Given the description of an element on the screen output the (x, y) to click on. 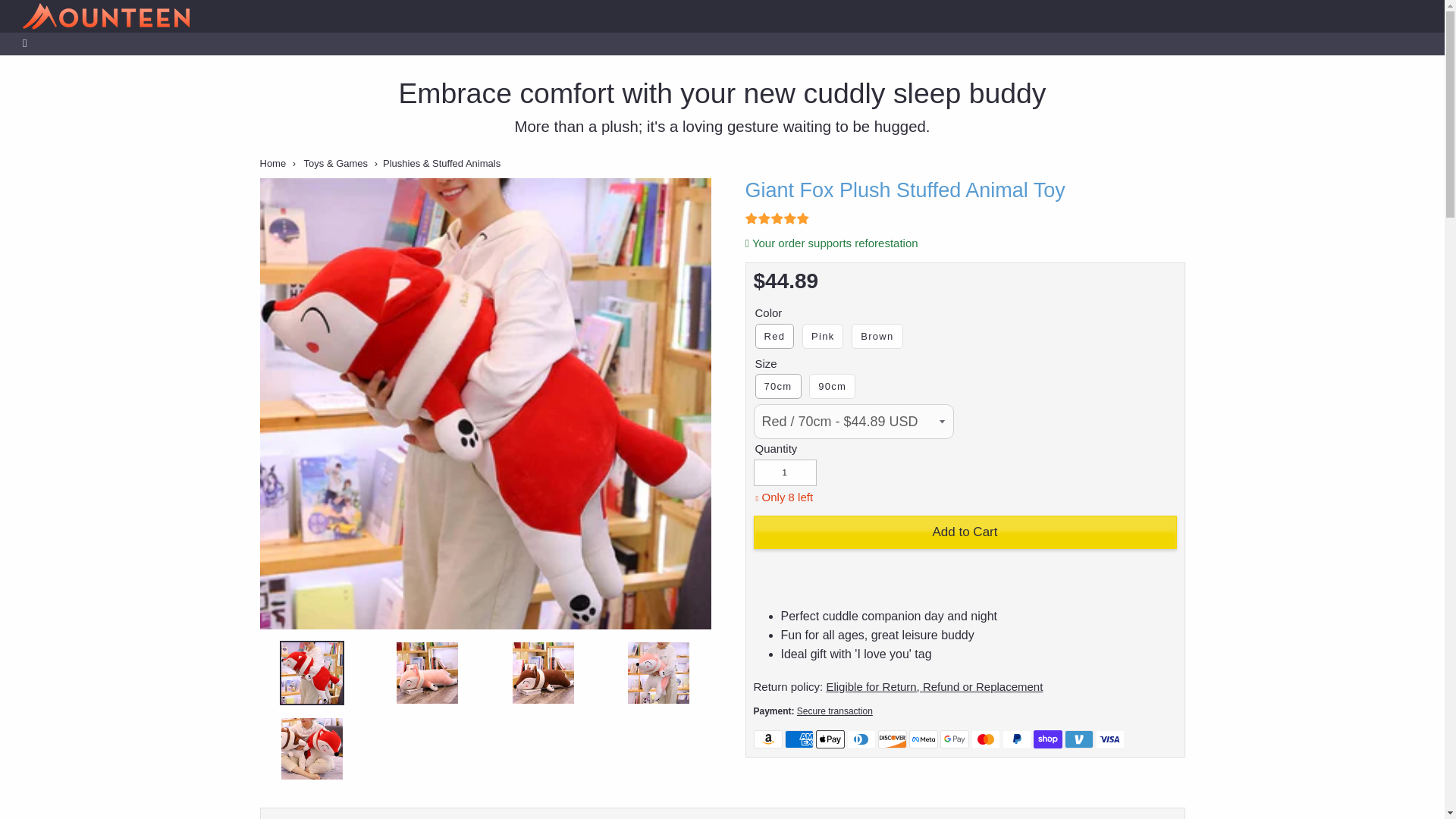
1 (785, 472)
Discover (892, 739)
Shop Pay (1046, 739)
Amazon (768, 739)
Visa (1109, 739)
Mastercard (984, 739)
American Express (798, 739)
Home (272, 163)
Apple Pay (829, 739)
Meta Pay (922, 739)
PayPal (1016, 739)
